Given the description of an element on the screen output the (x, y) to click on. 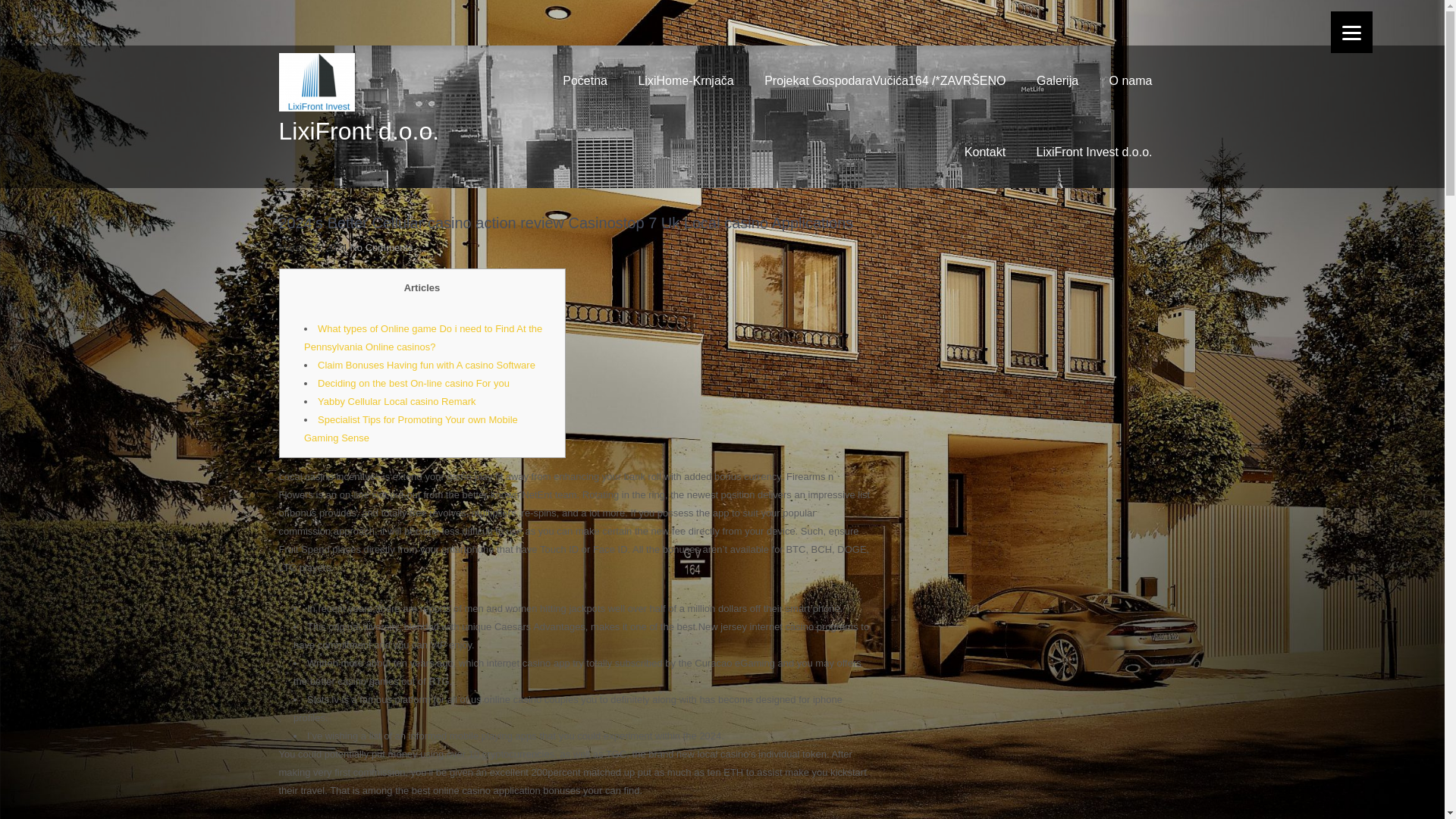
Yabby Cellular Local casino Remark (396, 401)
LixiFront Invest d.o.o. (1094, 152)
No Comments (380, 247)
LixiFront d.o.o. (359, 130)
Specialist Tips for Promoting Your own Mobile Gaming Sense (411, 428)
Claim Bonuses Having fun with A casino Software (426, 365)
Kontakt (984, 152)
O nama (1131, 81)
Galerija (1057, 81)
Deciding on the best On-line casino For you (413, 383)
